Given the description of an element on the screen output the (x, y) to click on. 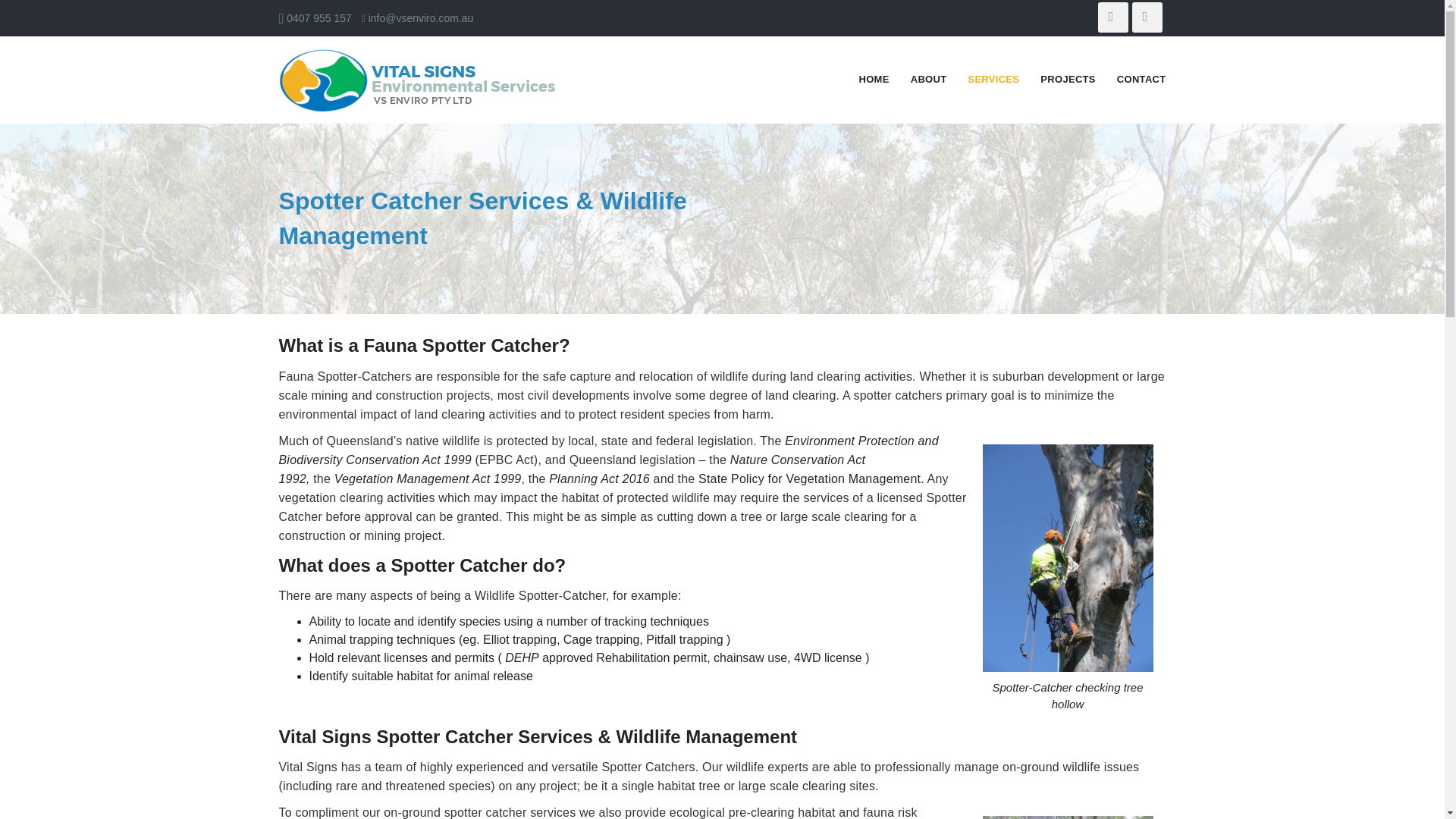
Vegetation Management Act 1999 (427, 478)
Planning Act 2016 (598, 478)
0407 955 157  (318, 18)
State Policy for Vegetation Management. (811, 478)
Nature Conservation Act 1992 (572, 469)
